Given the description of an element on the screen output the (x, y) to click on. 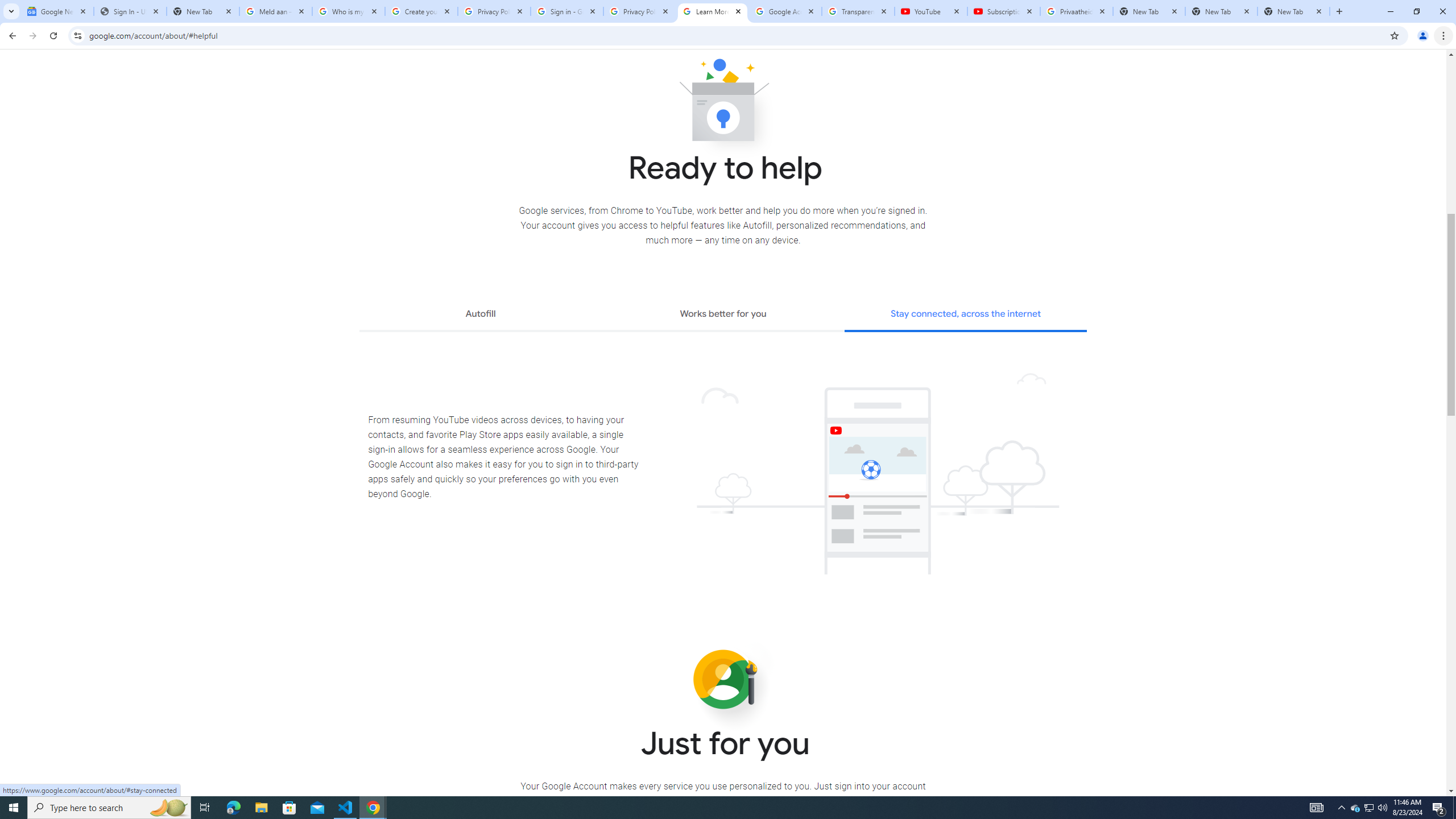
Who is my administrator? - Google Account Help (348, 11)
Works better for you (722, 315)
Just for you (722, 679)
Stay connected, across the internet (965, 315)
New Tab (1221, 11)
